Given the description of an element on the screen output the (x, y) to click on. 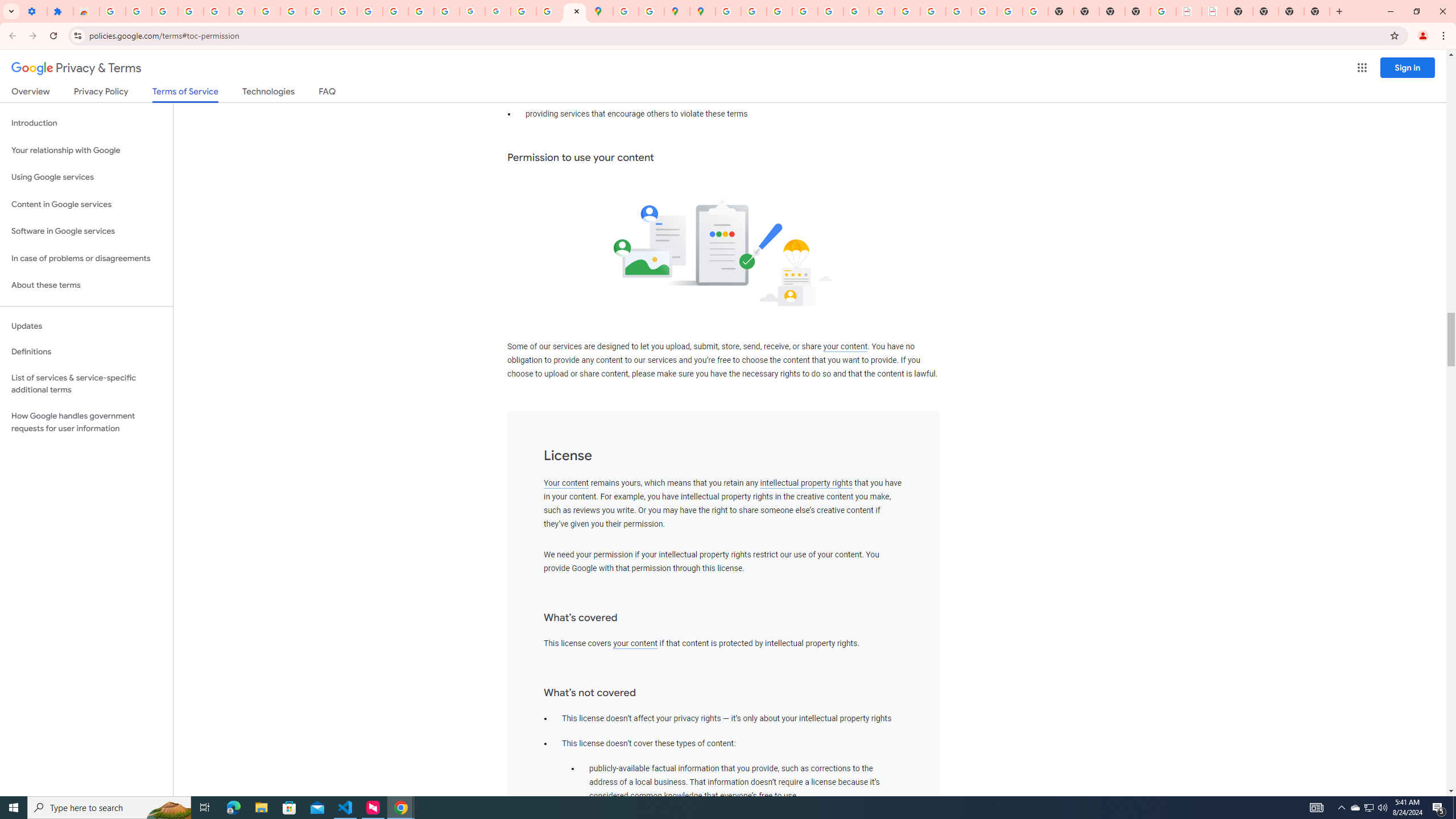
Safety in Our Products - Google Safety Center (651, 11)
Google Images (1034, 11)
New Tab (1137, 11)
List of services & service-specific additional terms (86, 383)
YouTube (881, 11)
Sign in - Google Accounts (112, 11)
Reviews: Helix Fruit Jump Arcade Game (86, 11)
In case of problems or disagreements (86, 258)
Software in Google services (86, 230)
